Given the description of an element on the screen output the (x, y) to click on. 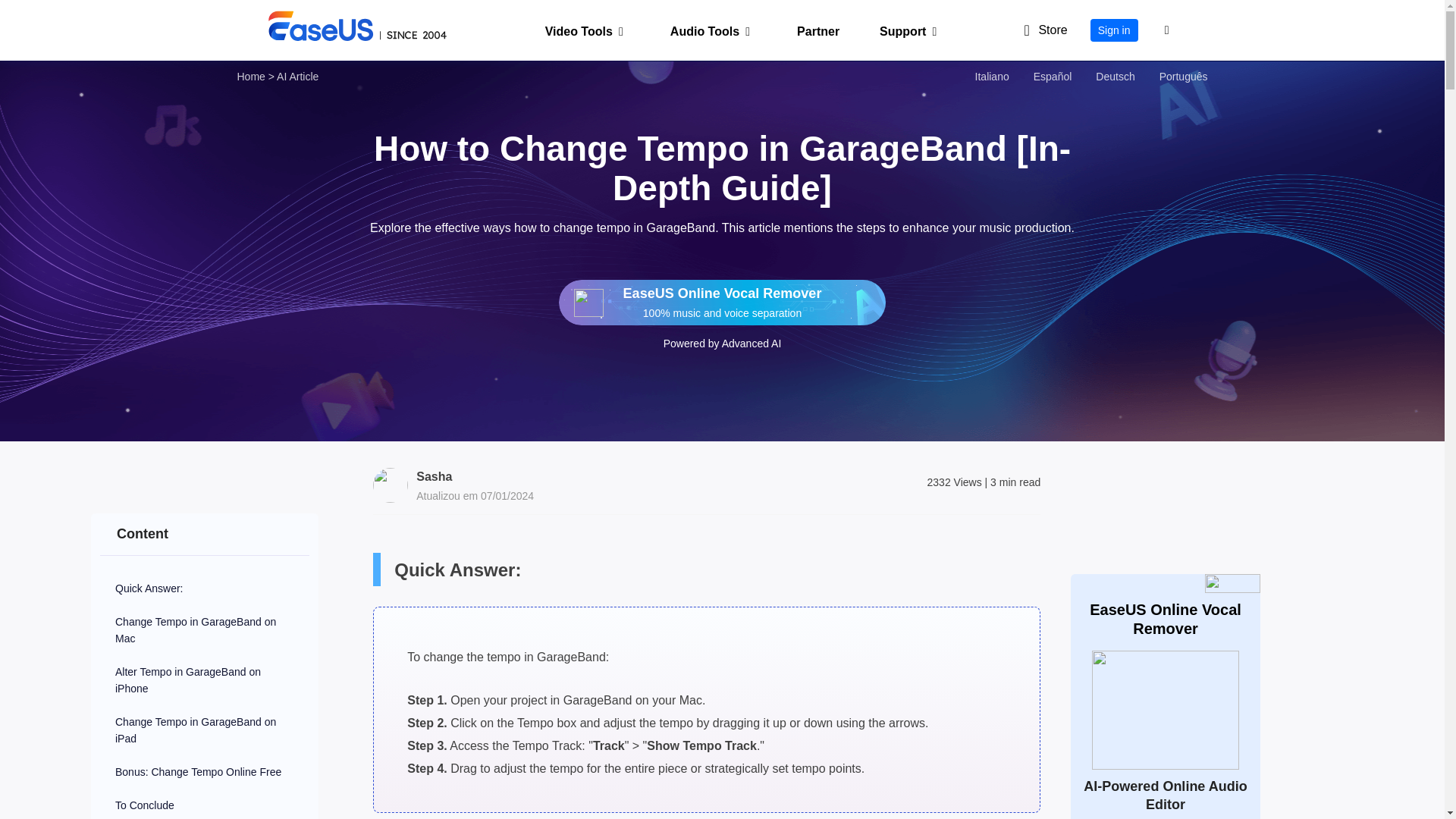
Partner (809, 30)
  Store (1039, 29)
Italiano (992, 76)
Sign in (1114, 29)
Deutsch (1115, 76)
Sasha (433, 476)
Home (249, 76)
AI Article (297, 76)
